Given the description of an element on the screen output the (x, y) to click on. 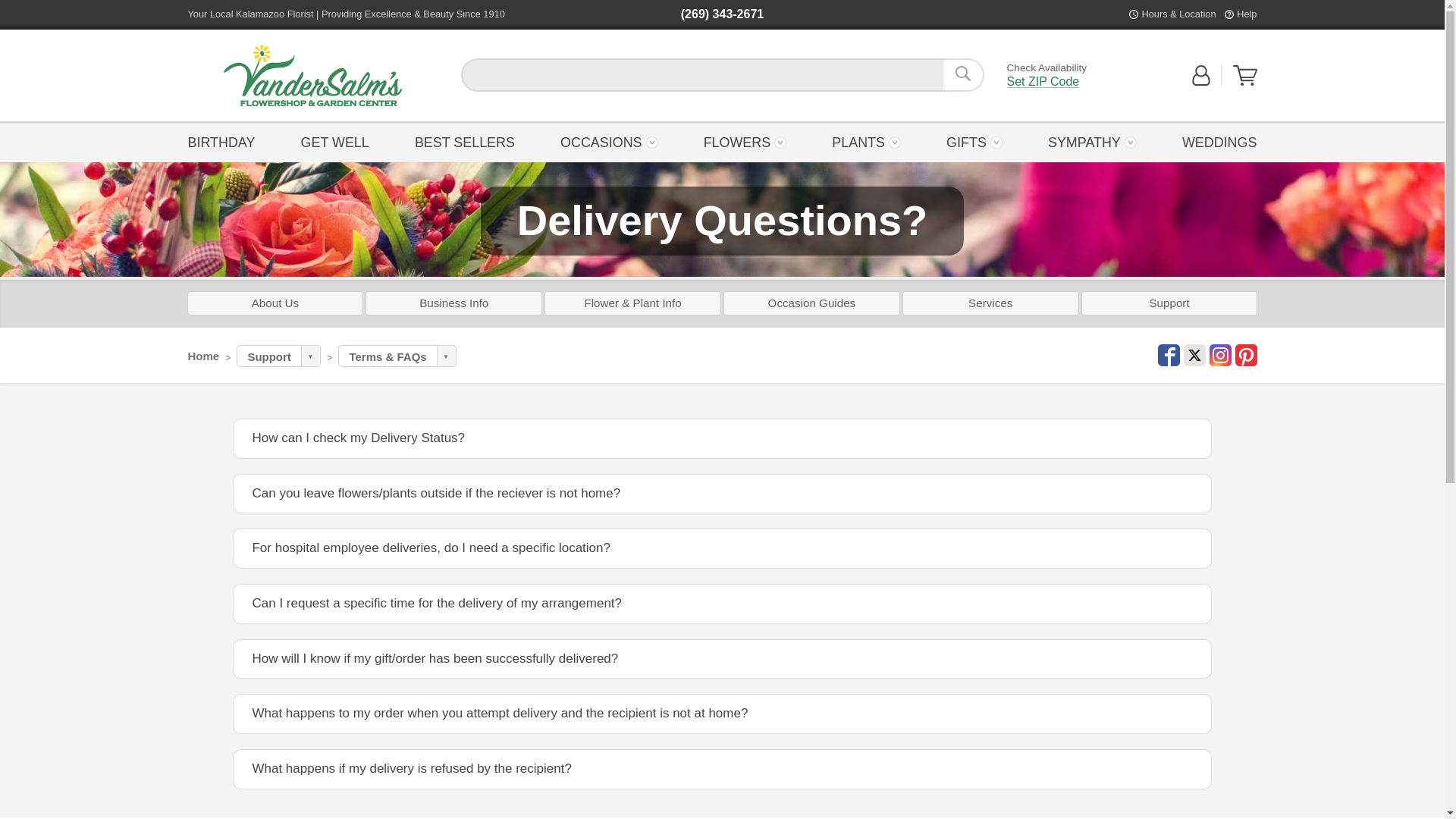
Back to the Home Page (312, 76)
OCCASIONS (608, 141)
Set ZIP Code (1043, 81)
BIRTHDAY (225, 141)
GET WELL (334, 141)
BEST SELLERS (464, 141)
Help (1246, 13)
View Your Shopping Cart (1245, 82)
Vandersalm's Flowershop and Garden Center Logo (312, 75)
